Given the description of an element on the screen output the (x, y) to click on. 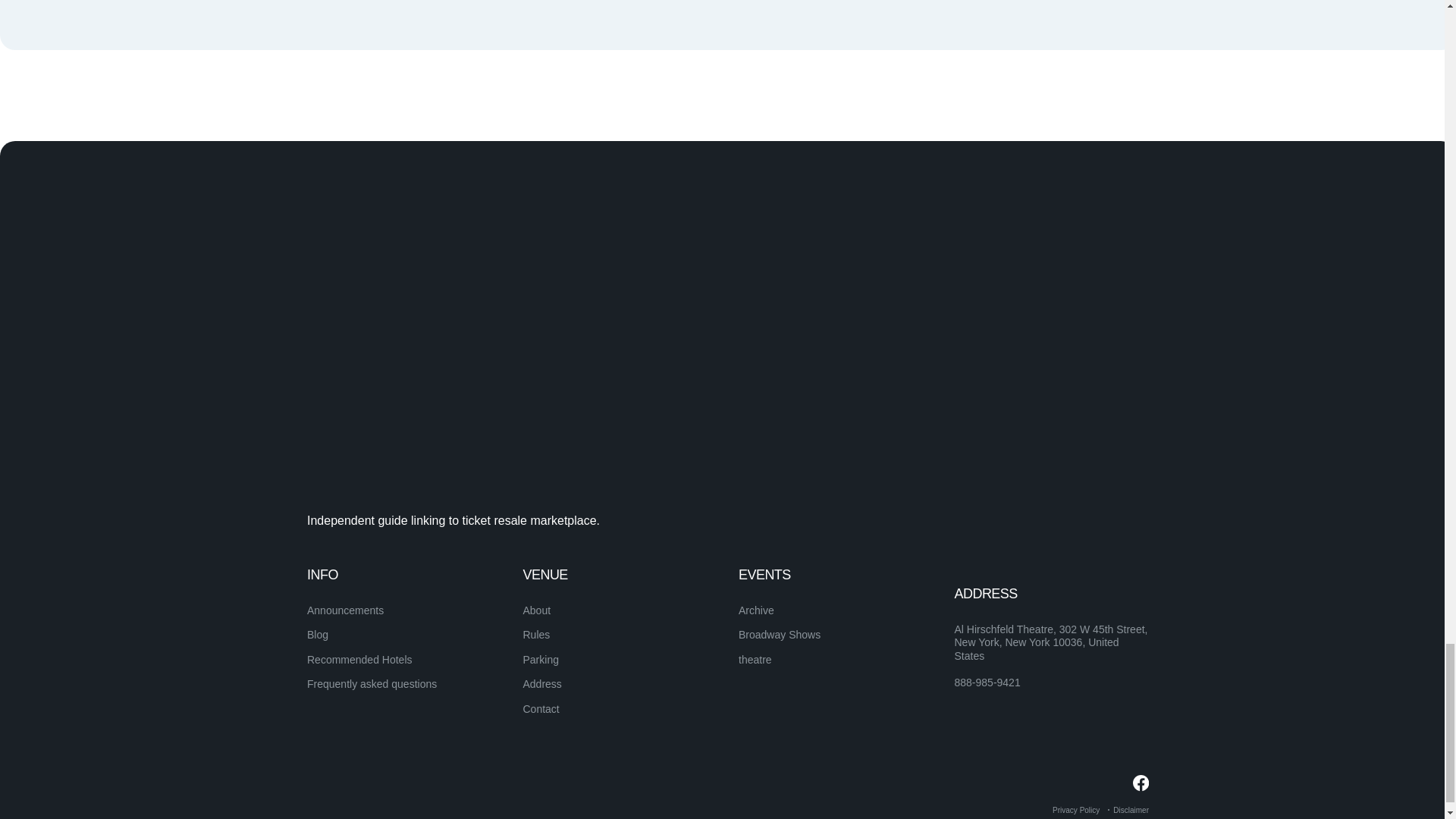
Archive (756, 610)
Contact (540, 708)
Address (542, 684)
888-985-9421 (986, 683)
Frequently asked questions (371, 684)
Rules (536, 634)
SUBSCRIBE (1095, 602)
Broadway Shows (779, 634)
Parking (540, 659)
theatre (754, 659)
Announcements (345, 610)
Blog (318, 634)
Recommended Hotels (359, 659)
About (536, 610)
